Given the description of an element on the screen output the (x, y) to click on. 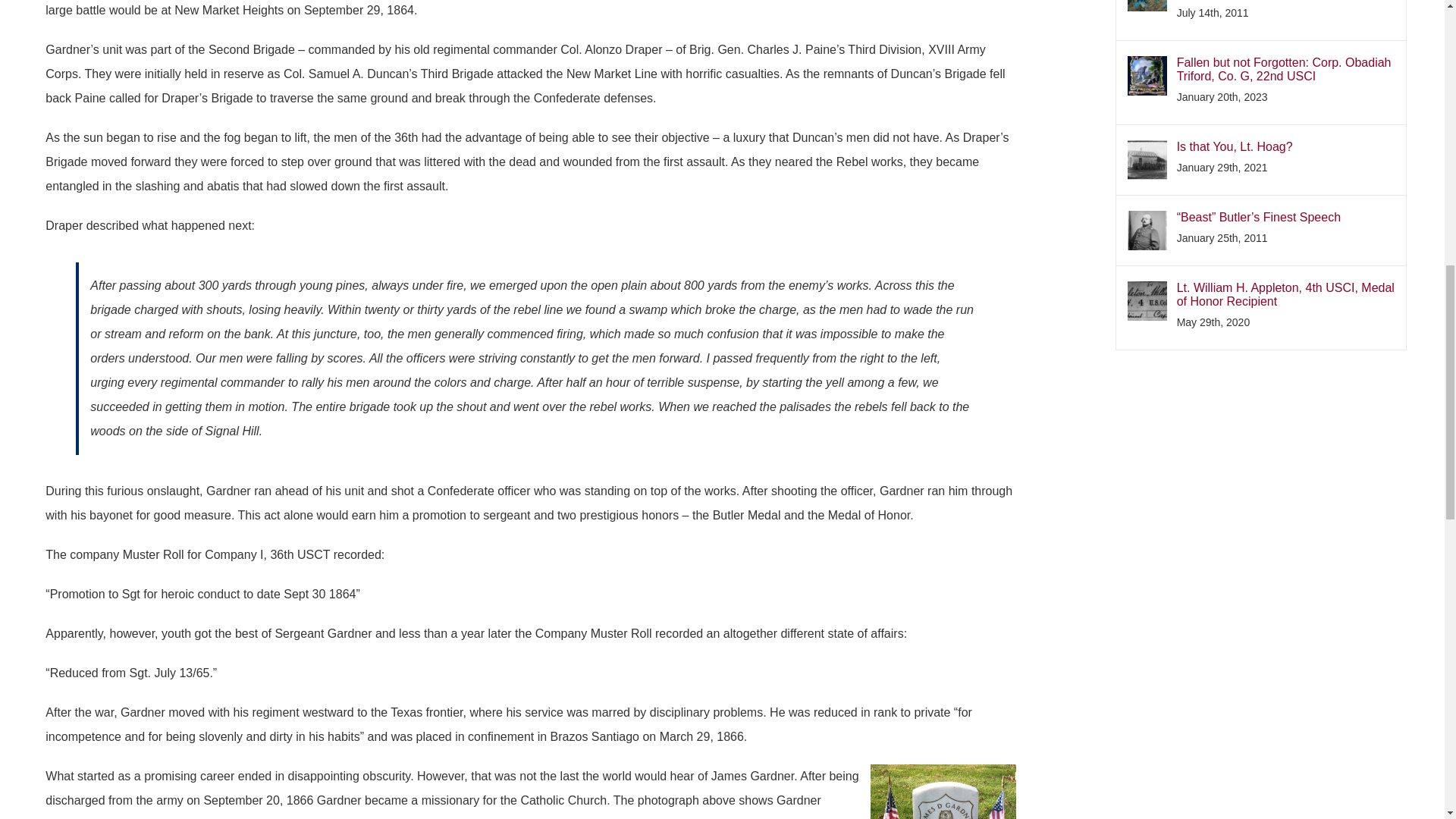
Is that You, Lt. Hoag? (1285, 146)
